Given the description of an element on the screen output the (x, y) to click on. 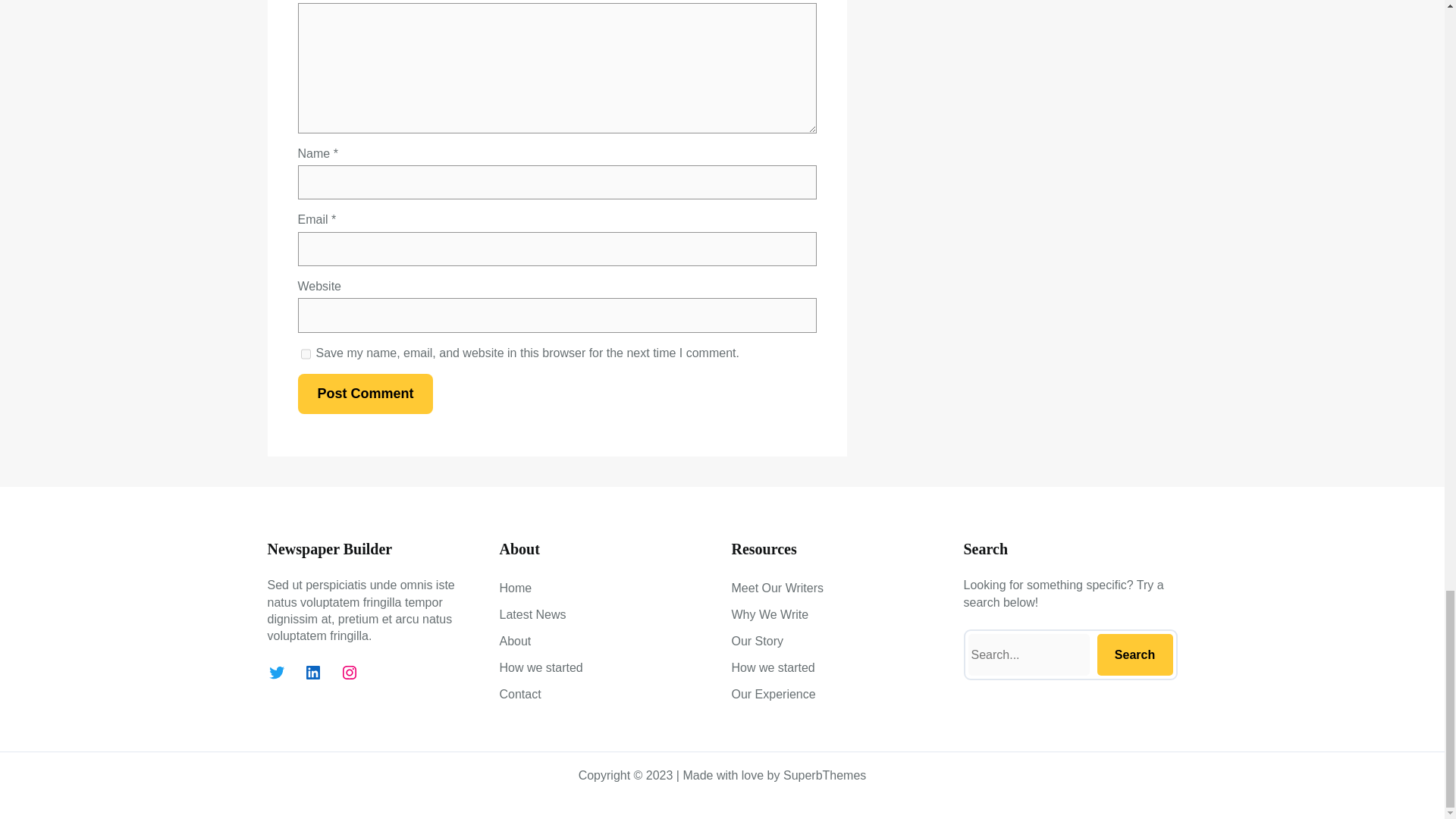
yes (304, 353)
Home (515, 588)
About (515, 640)
Post Comment (364, 393)
Latest News (532, 614)
Instagram (348, 672)
LinkedIn (311, 672)
Twitter (275, 672)
Post Comment (364, 393)
